Given the description of an element on the screen output the (x, y) to click on. 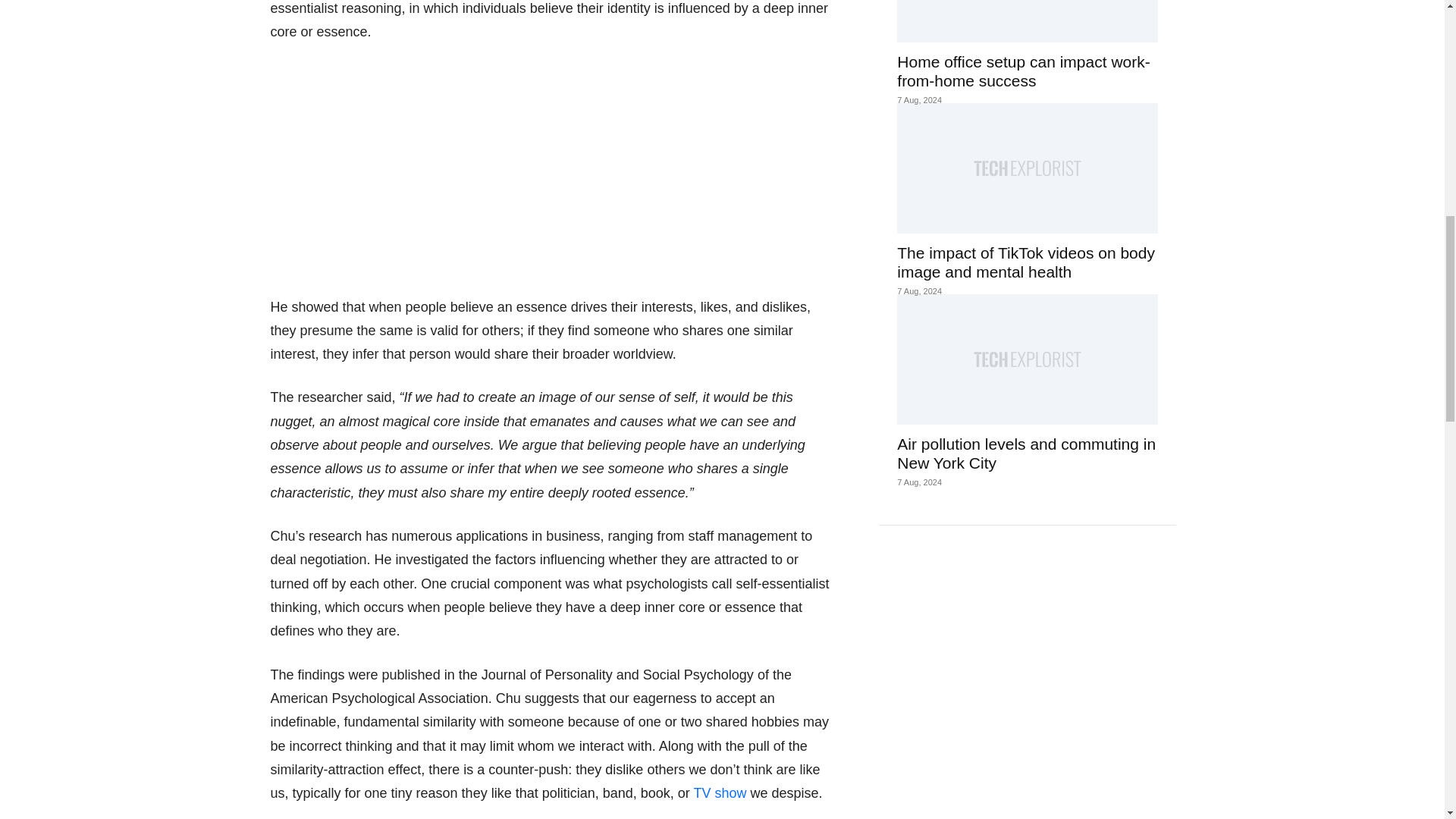
TV show (719, 792)
Home office setup can impact work-from-home success (1026, 21)
